Given the description of an element on the screen output the (x, y) to click on. 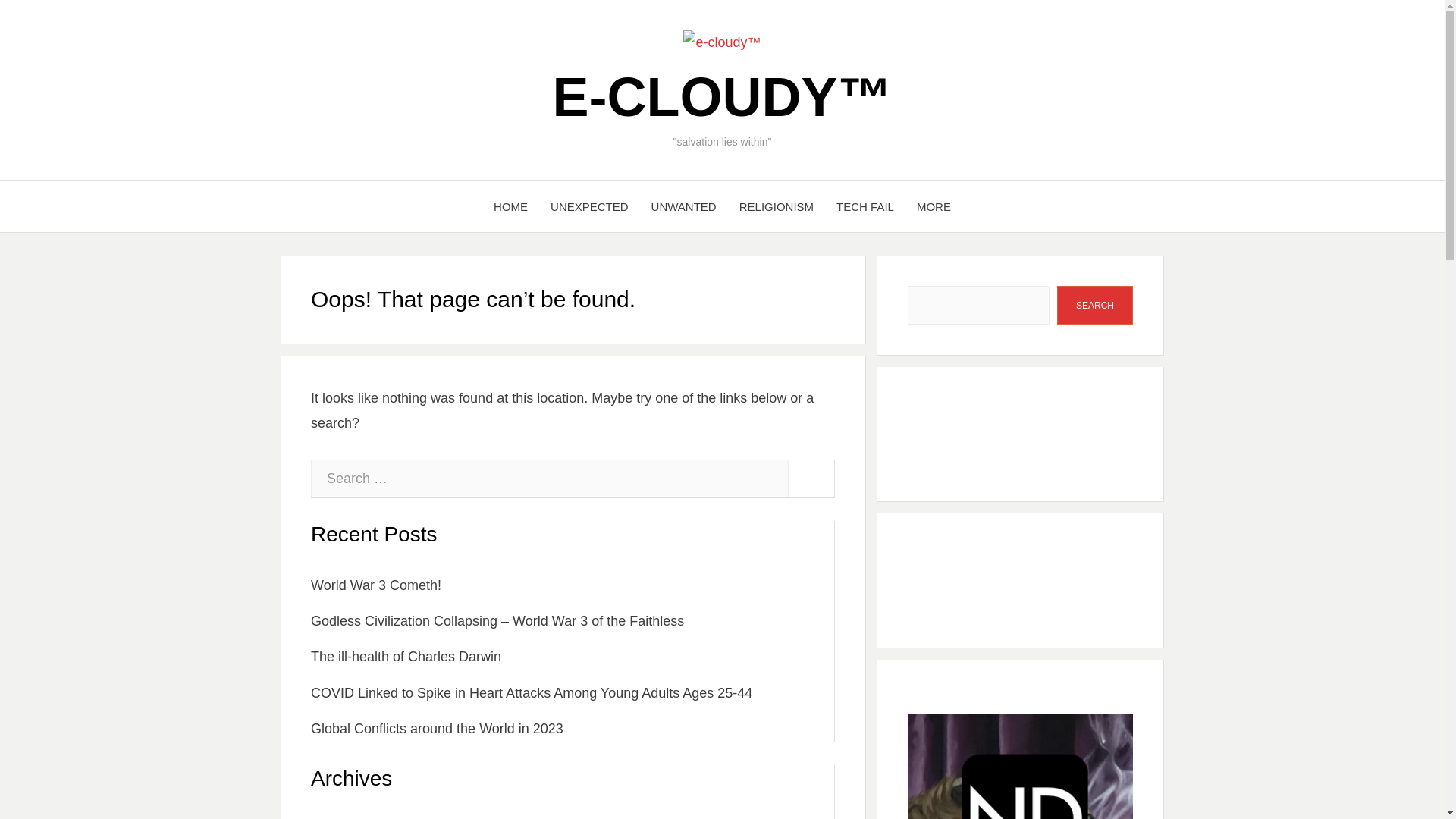
TECH FAIL (865, 206)
The ill-health of Charles Darwin (405, 656)
UNEXPECTED (589, 206)
Global Conflicts around the World in 2023 (437, 728)
RELIGIONISM (776, 206)
World War 3 Cometh! (376, 585)
HOME (509, 206)
Search for: (550, 478)
MORE (933, 206)
UNWANTED (684, 206)
